Given the description of an element on the screen output the (x, y) to click on. 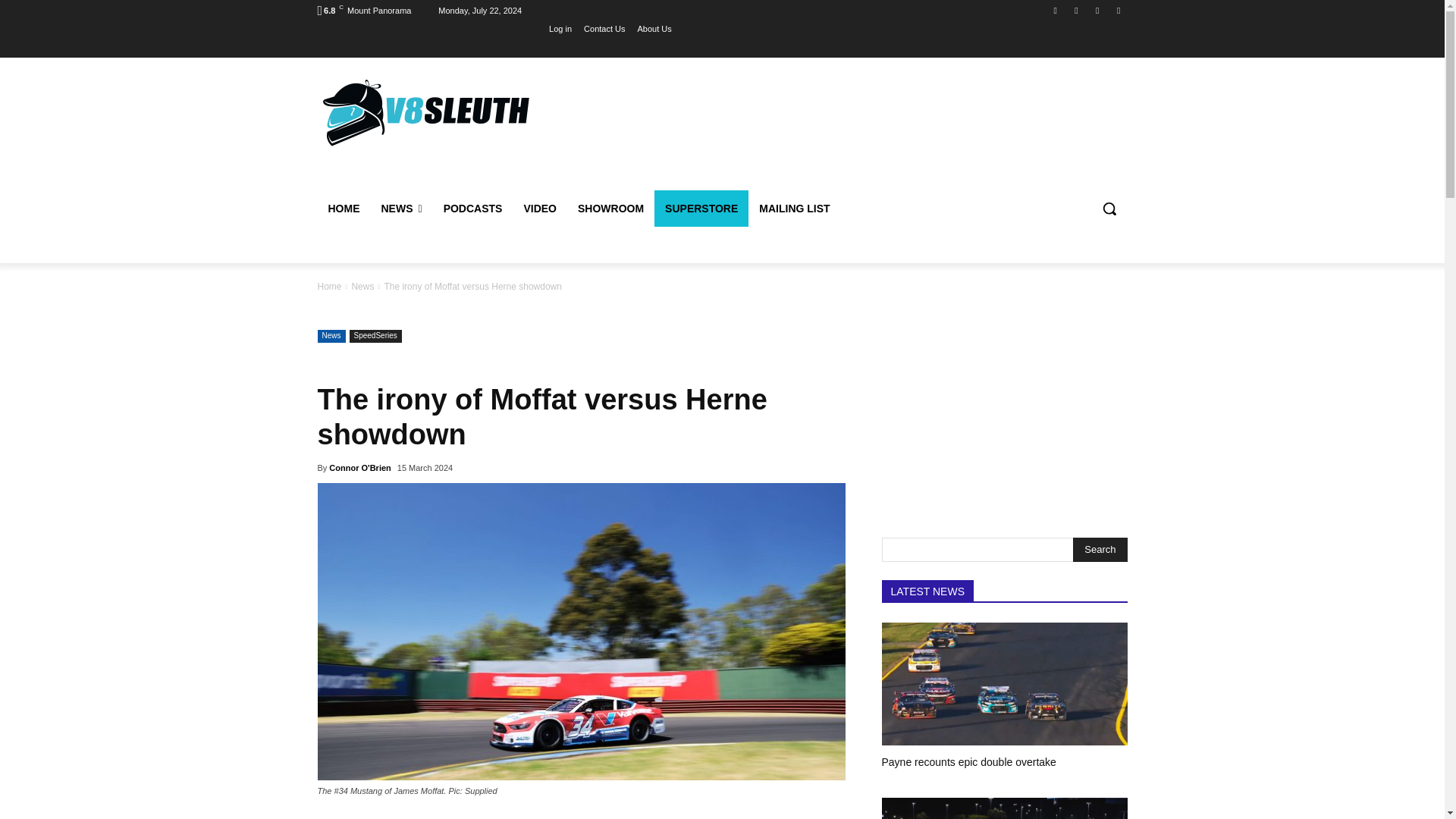
Contact Us (603, 28)
NEWS (400, 208)
Instagram (1075, 9)
About Us (654, 28)
3rd party ad content (846, 131)
Youtube (1117, 9)
HOME (343, 208)
Facebook (1055, 9)
Twitter (1097, 9)
Log in (560, 28)
